Given the description of an element on the screen output the (x, y) to click on. 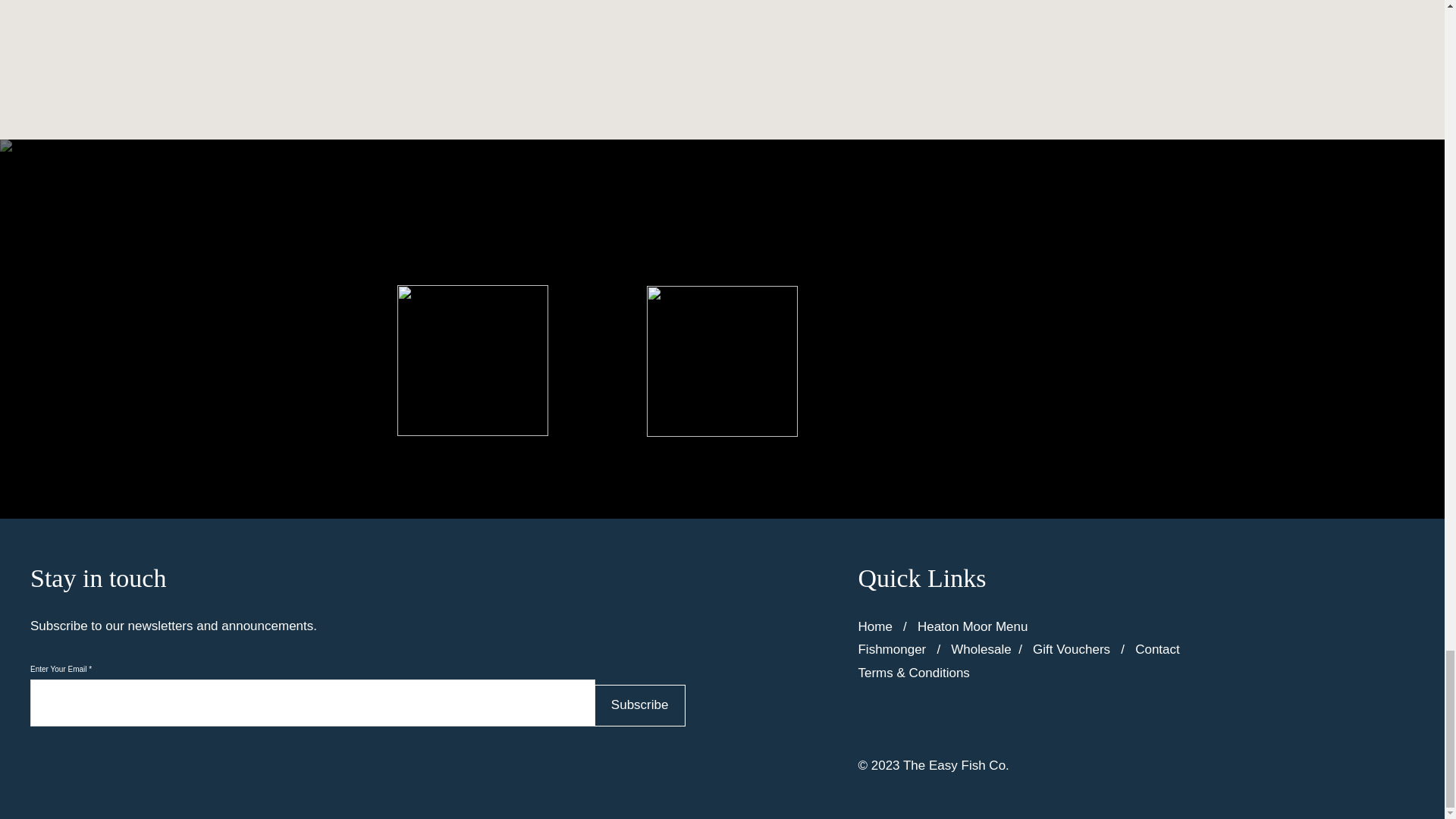
Subscribe (639, 705)
Heaton Moor Menu (972, 626)
Home (874, 626)
Fishmonger (891, 649)
